Given the description of an element on the screen output the (x, y) to click on. 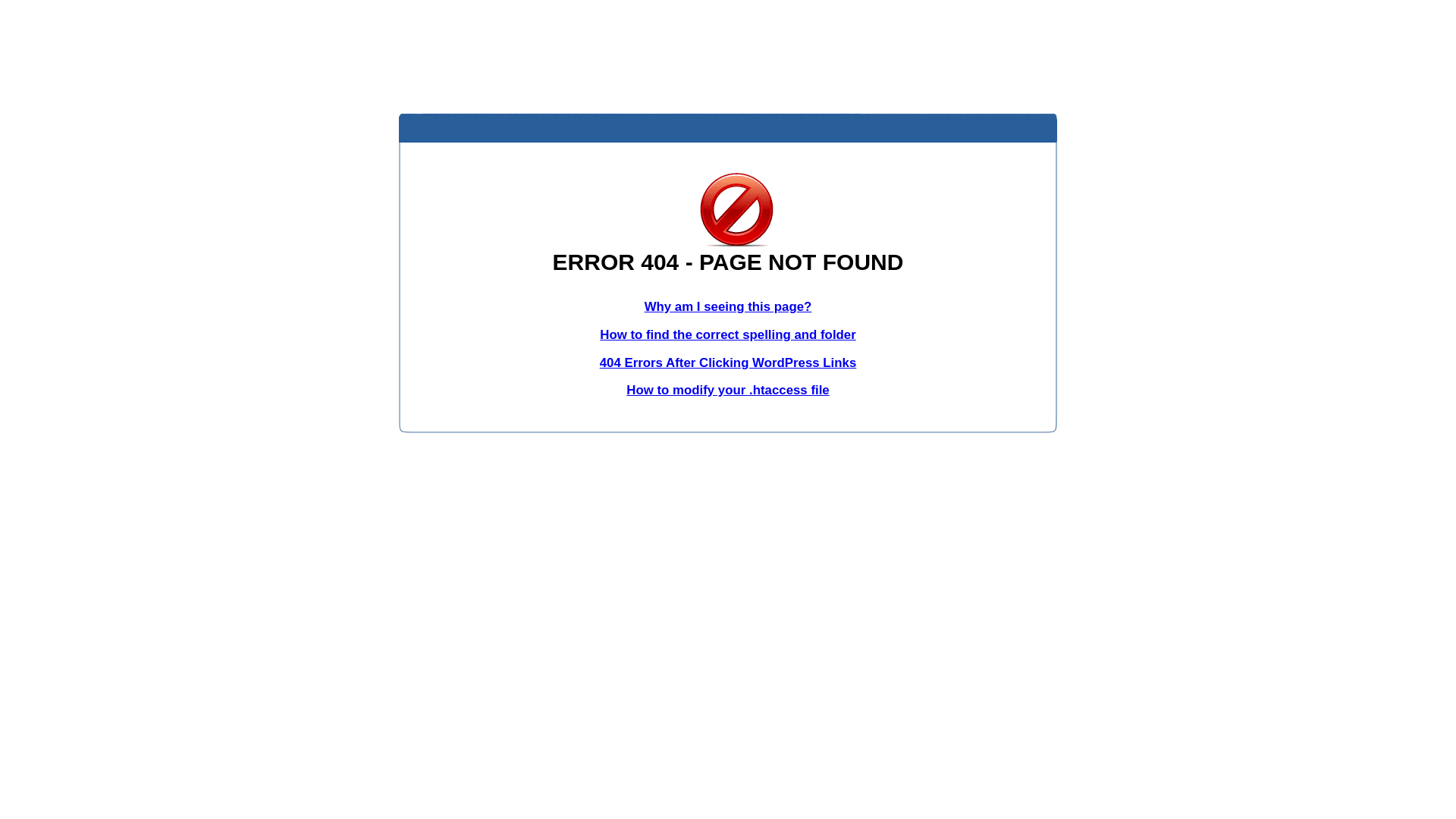
404 Errors After Clicking WordPress Links Element type: text (727, 362)
How to find the correct spelling and folder Element type: text (727, 334)
Why am I seeing this page? Element type: text (728, 306)
How to modify your .htaccess file Element type: text (727, 389)
